Given the description of an element on the screen output the (x, y) to click on. 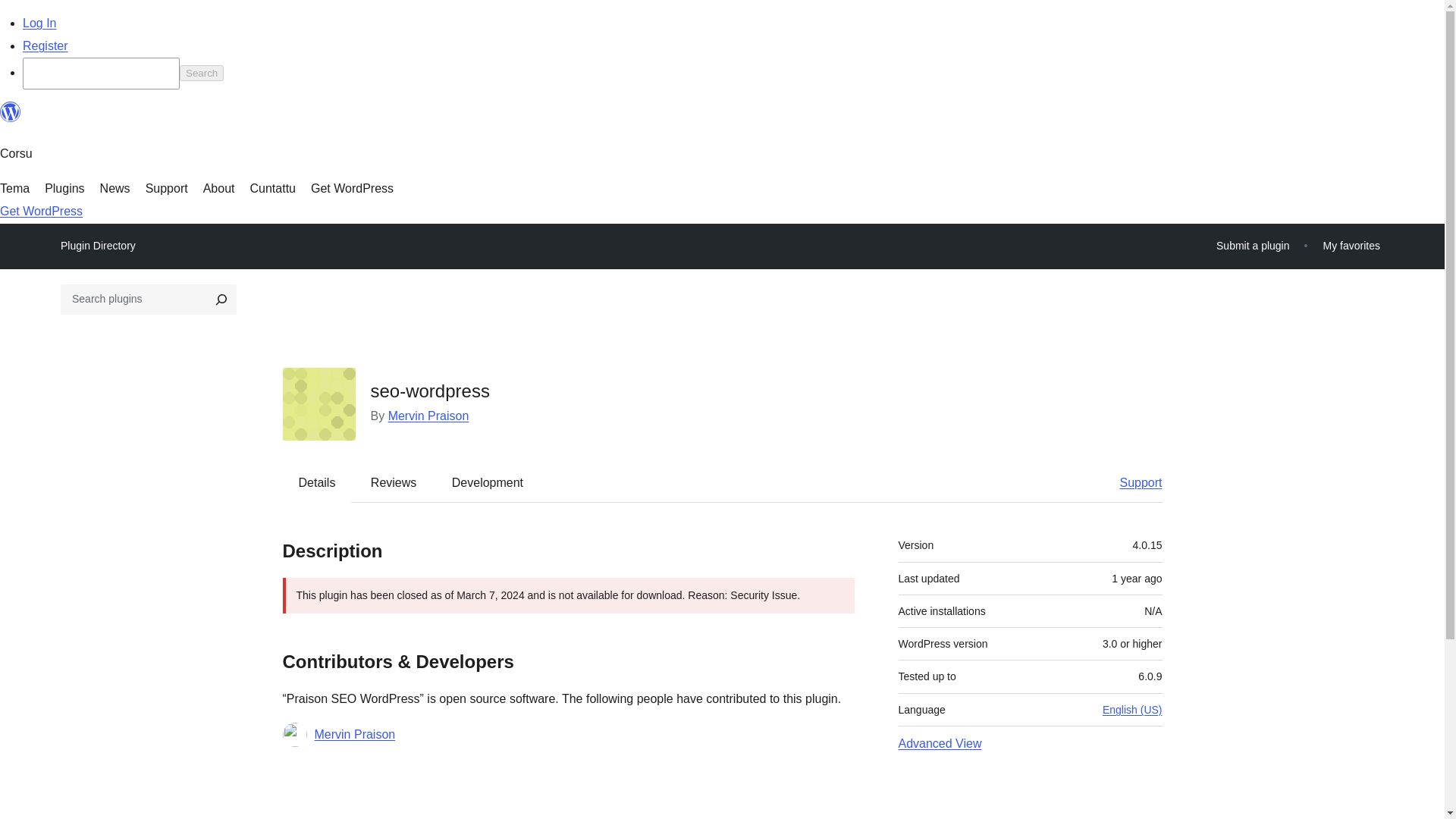
Tema (14, 188)
My favorites (1351, 246)
News (115, 188)
Submit a plugin (1253, 246)
Support (1132, 483)
Log In (39, 22)
About (218, 188)
Support (166, 188)
Get WordPress (352, 188)
Development (487, 483)
Search (201, 73)
WordPress.org (10, 111)
Plugin Directory (97, 245)
Plugins (64, 188)
Mervin Praison (428, 415)
